Given the description of an element on the screen output the (x, y) to click on. 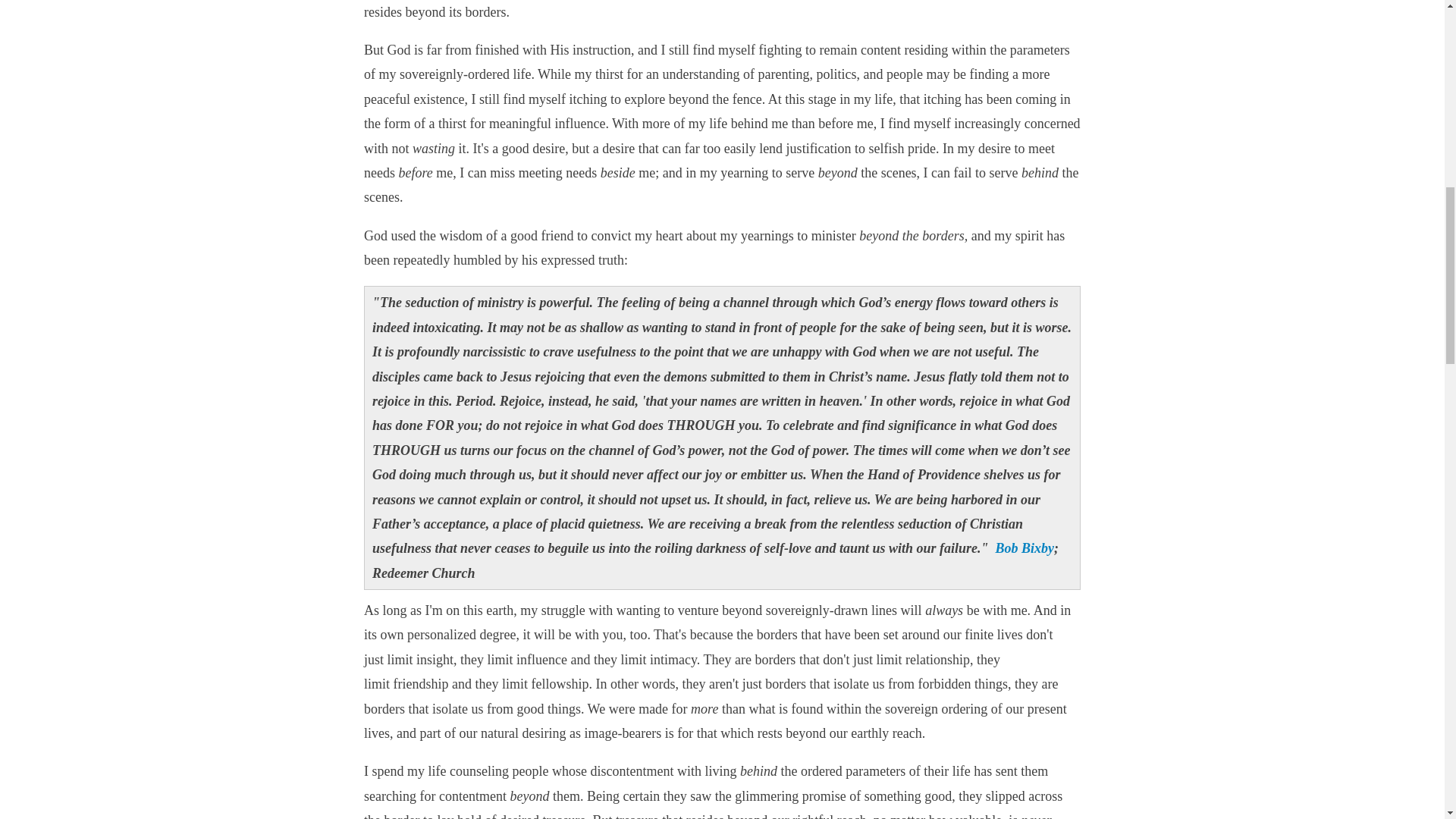
Bob Bixby (1024, 548)
